Given the description of an element on the screen output the (x, y) to click on. 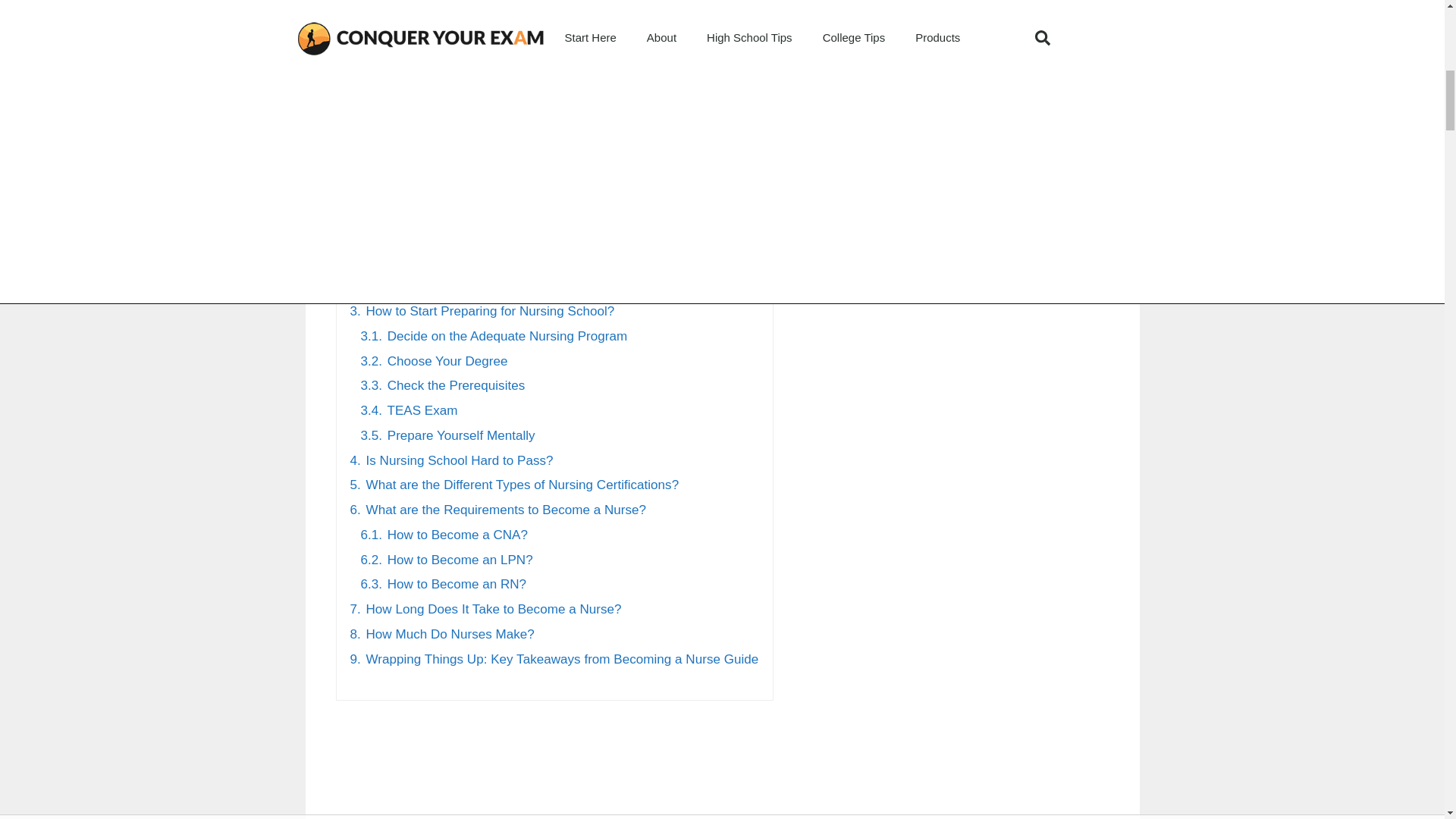
3.1. Decide on the Adequate Nursing Program (494, 336)
2.3. Technical Skills (418, 286)
hide (507, 156)
3.2. Choose Your Degree (434, 360)
2. What Skills are Important in Nursing? (464, 211)
1. Why Choose a Career in Nursing? (456, 186)
3.3. Check the Prerequisites (443, 385)
6.2. How to Become an LPN? (446, 559)
2.1. Soft Skills (402, 237)
6.1. How to Become a CNA? (444, 534)
3.5. Prepare Yourself Mentally (448, 435)
6. What are the Requirements to Become a Nurse? (498, 509)
4. Is Nursing School Hard to Pass? (451, 460)
3.4. TEAS Exam (409, 410)
3. How to Start Preparing for Nursing School? (482, 310)
